Given the description of an element on the screen output the (x, y) to click on. 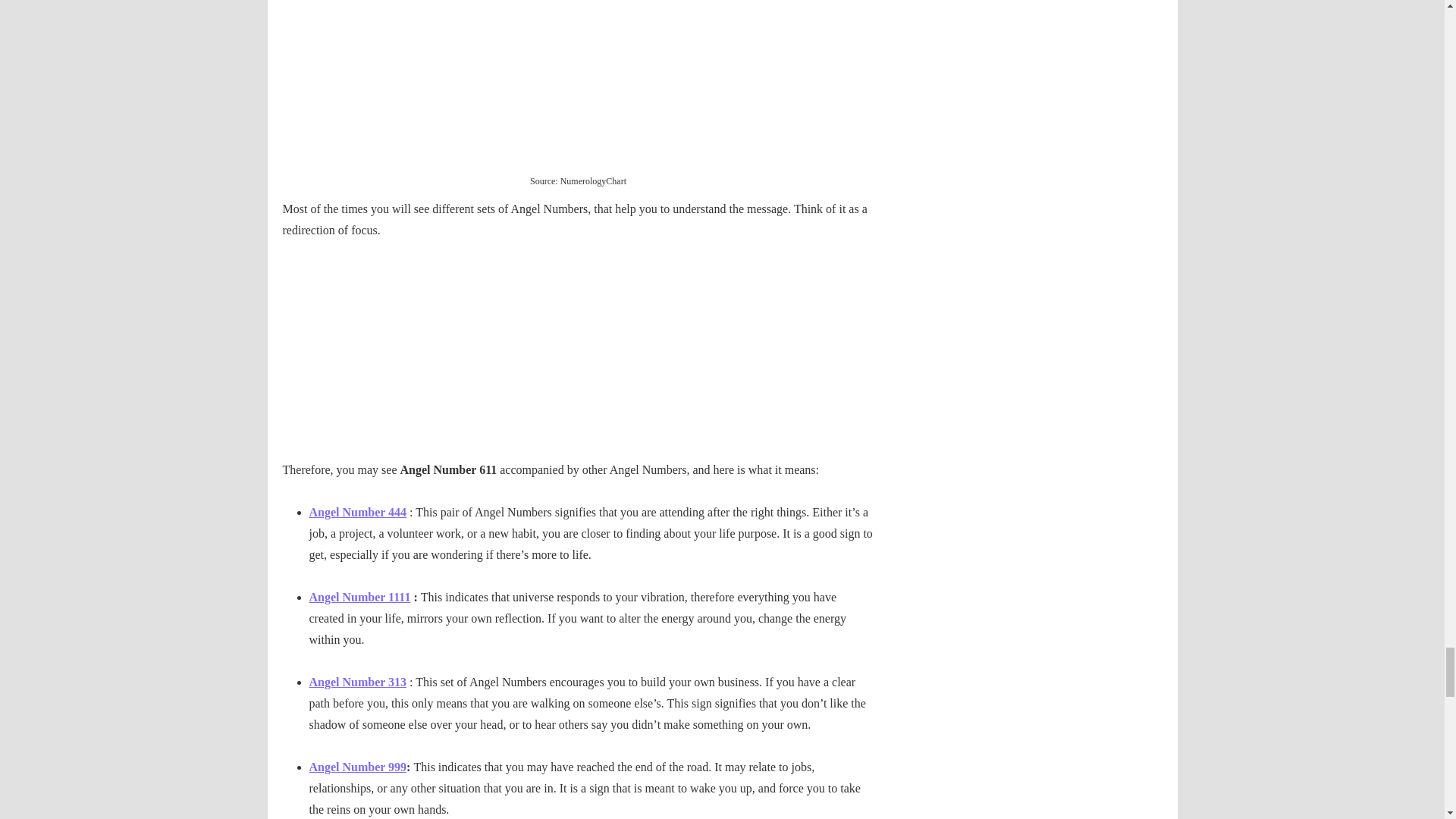
Angel Number 313 (357, 681)
Angel Number 444 (357, 512)
Angel Number 1111 (359, 596)
Angel Number 999 (357, 766)
